Given the description of an element on the screen output the (x, y) to click on. 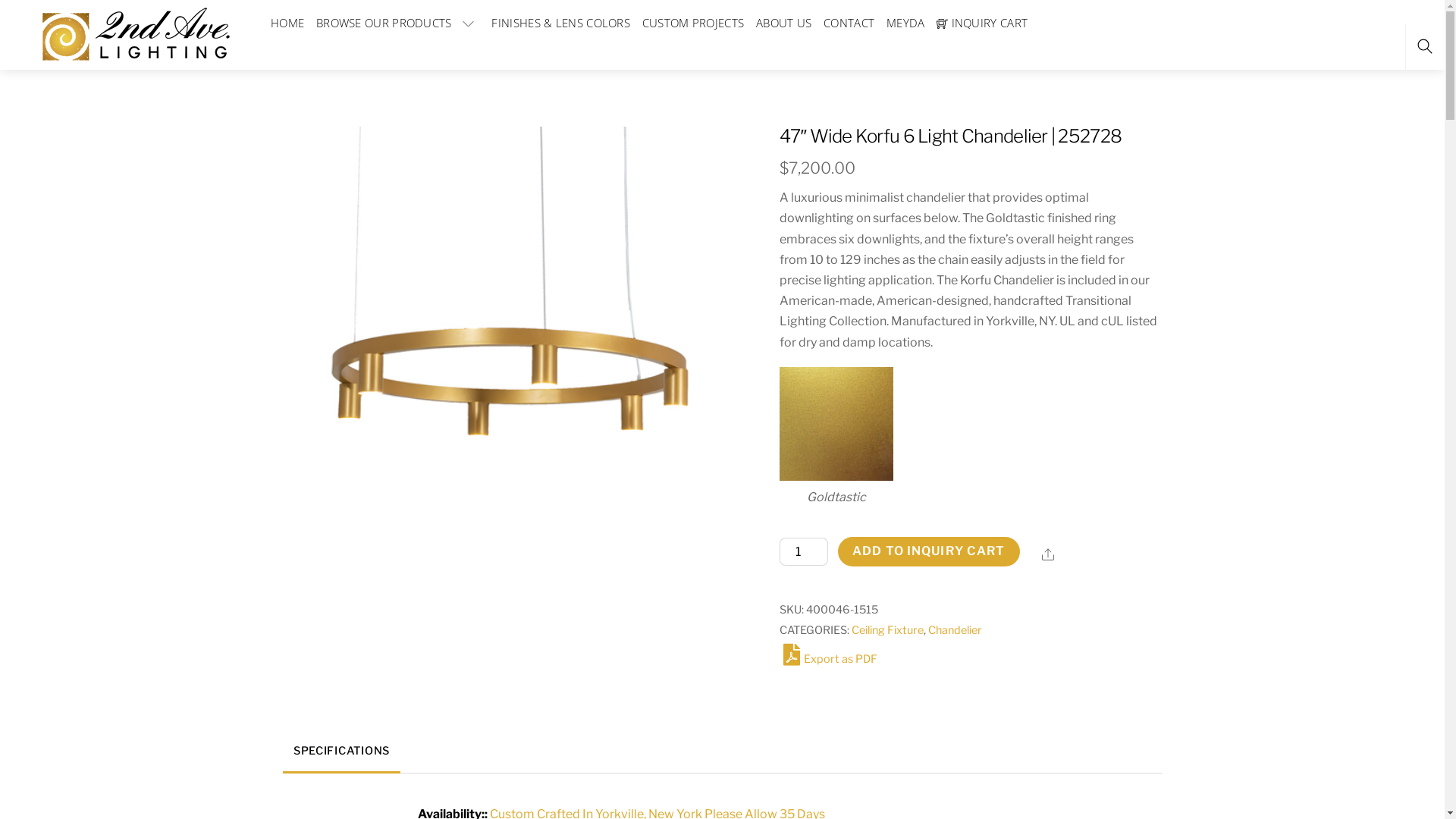
Contemporary LED Pendant Element type: hover (508, 375)
Chandelier Element type: text (955, 630)
2nd Ave Custom Lighting Made in the USA Element type: hover (134, 31)
Export as PDF Element type: text (828, 658)
SPECIFICATIONS Element type: text (341, 752)
Ceiling Fixture Element type: text (887, 630)
1 Element type: hover (134, 34)
ADD TO INQUIRY CART Element type: text (928, 550)
